Given the description of an element on the screen output the (x, y) to click on. 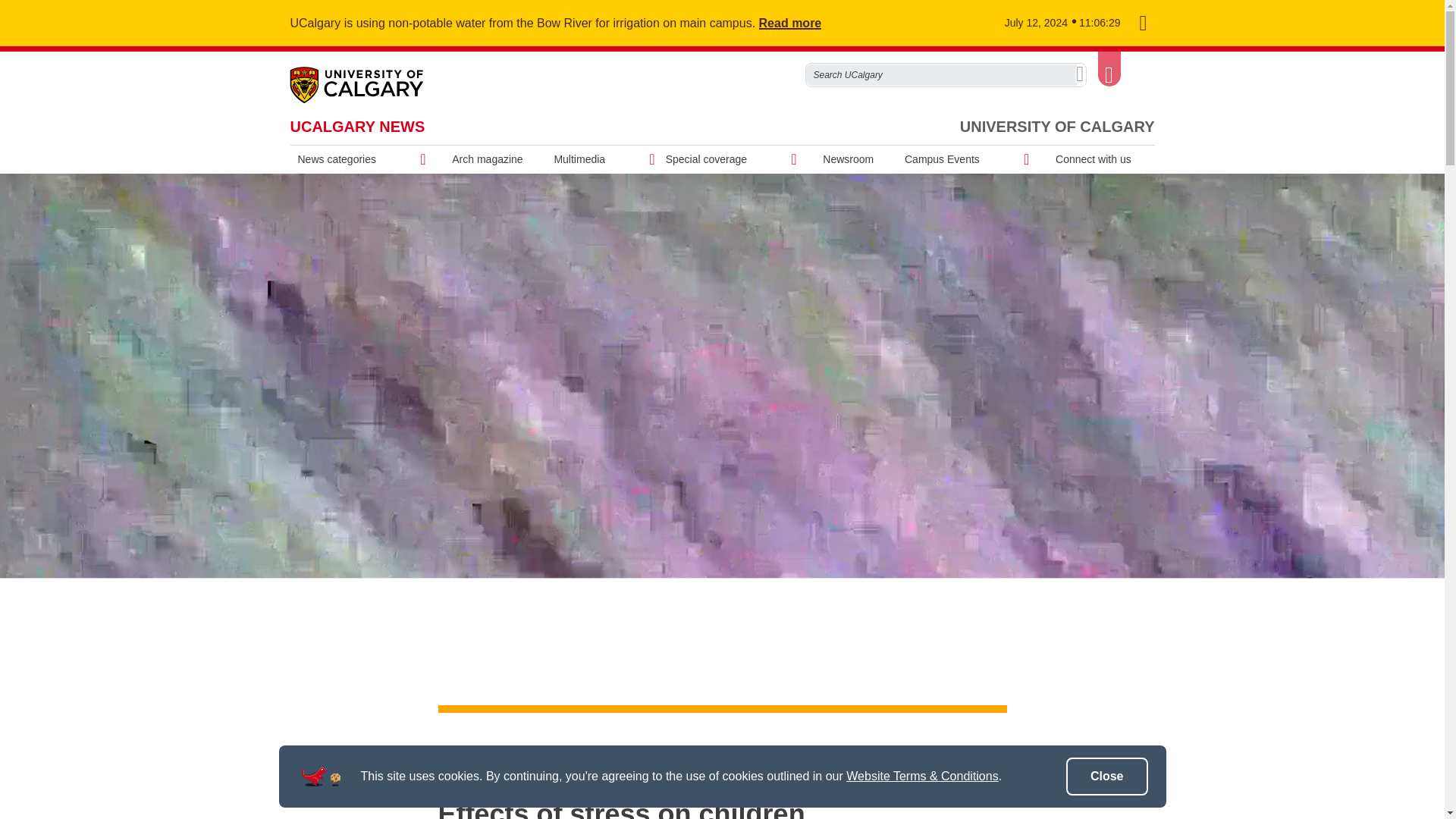
Read more (799, 22)
Close (1106, 776)
Toggle Site Alert Message (1142, 23)
